Given the description of an element on the screen output the (x, y) to click on. 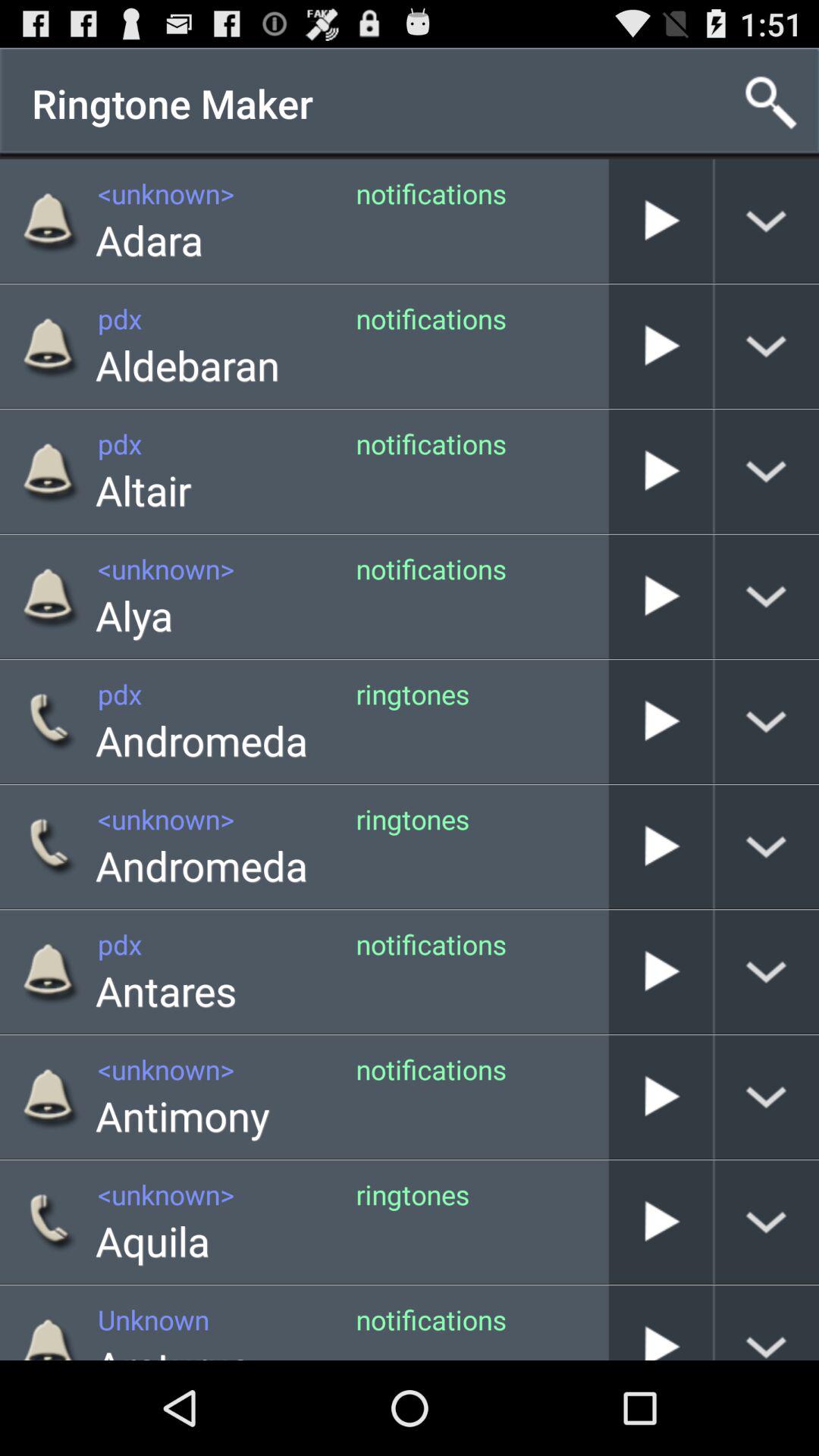
expand info (767, 346)
